Given the description of an element on the screen output the (x, y) to click on. 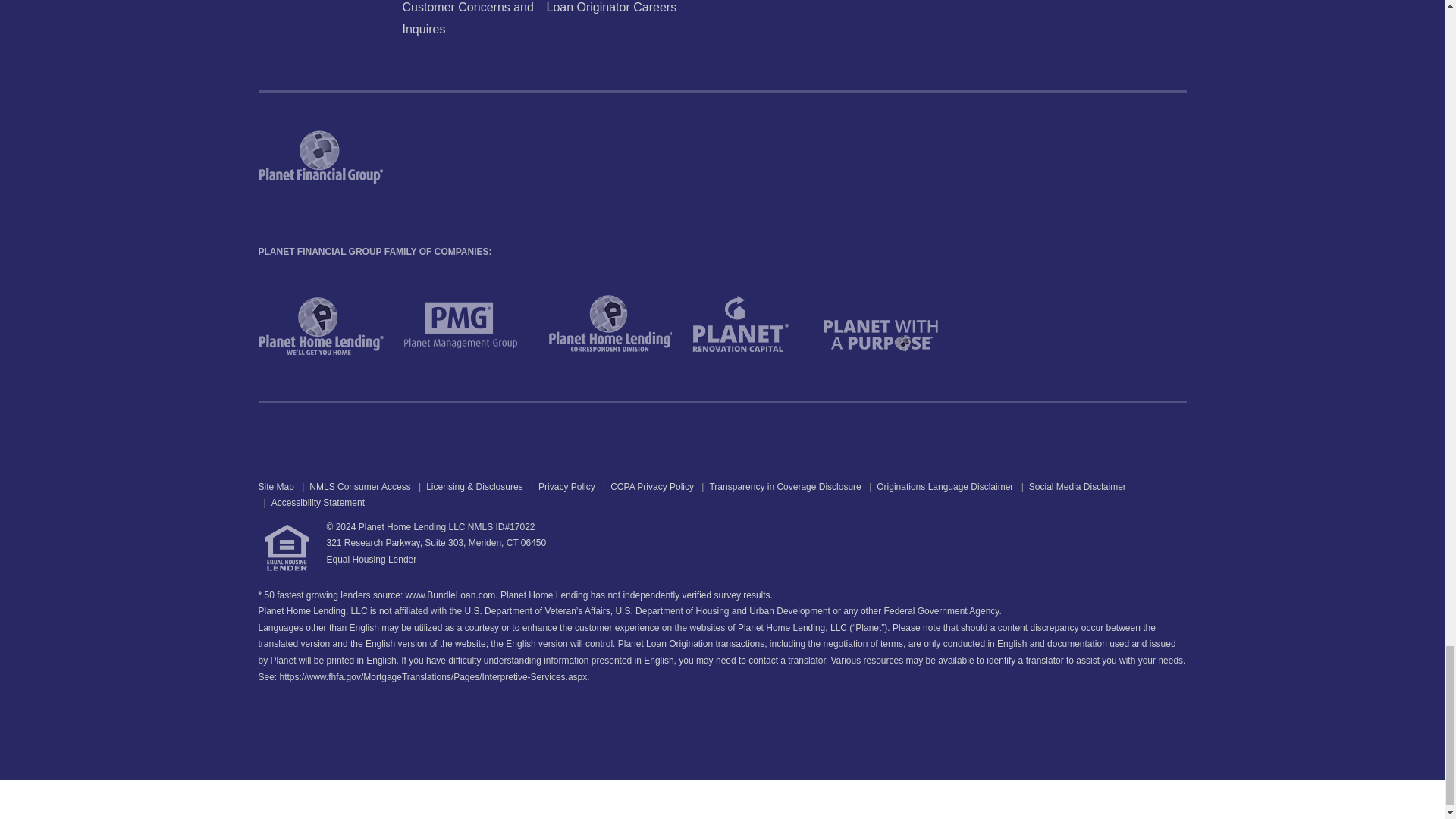
Site Map (275, 486)
Loan Originator Careers (611, 6)
Customer Concerns and Inquires (466, 18)
